Given the description of an element on the screen output the (x, y) to click on. 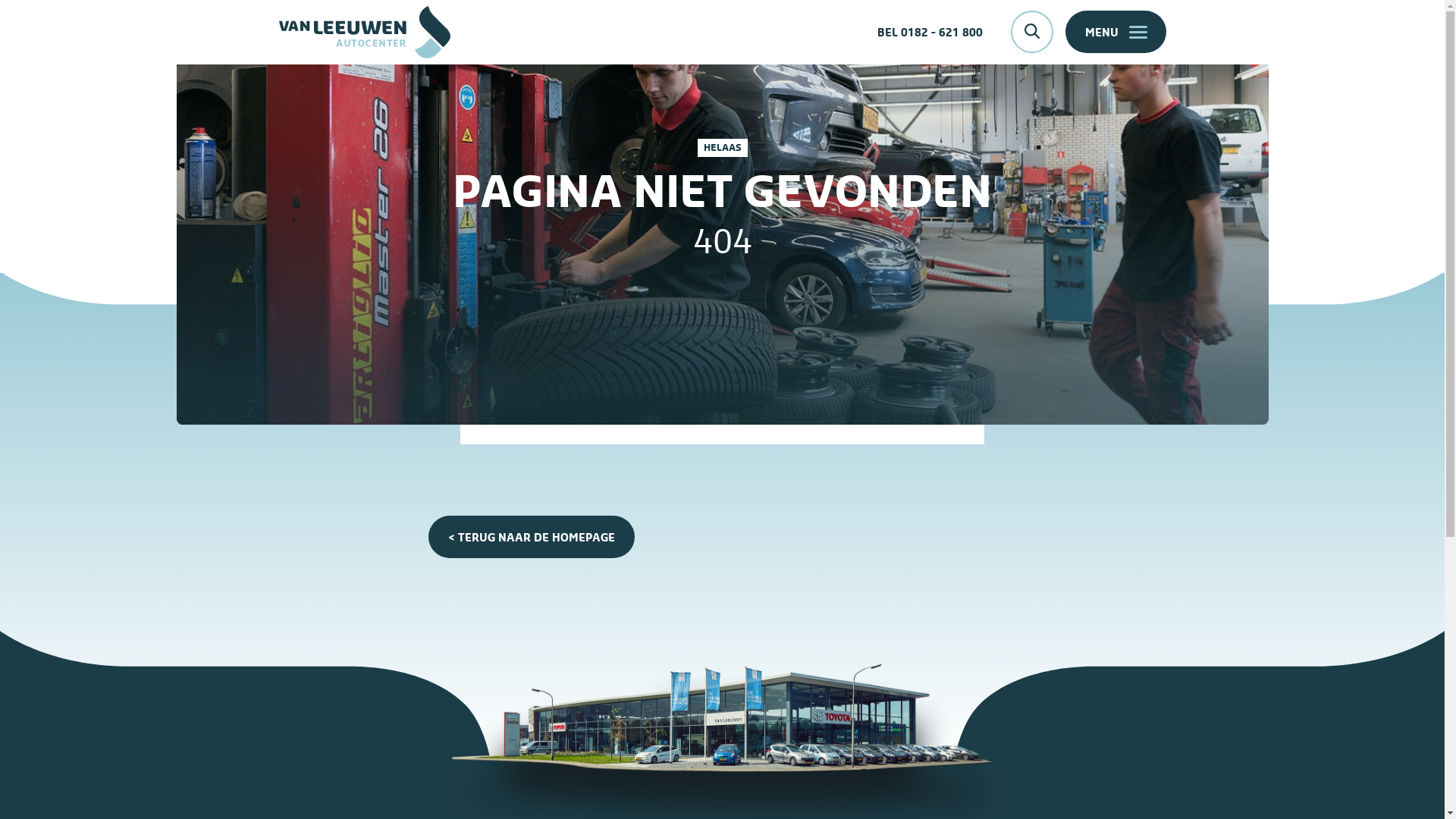
< TERUG NAAR DE HOMEPAGE Element type: text (531, 536)
BEL 0182 - 621 800 Element type: text (929, 32)
MENU Element type: text (1114, 31)
